Given the description of an element on the screen output the (x, y) to click on. 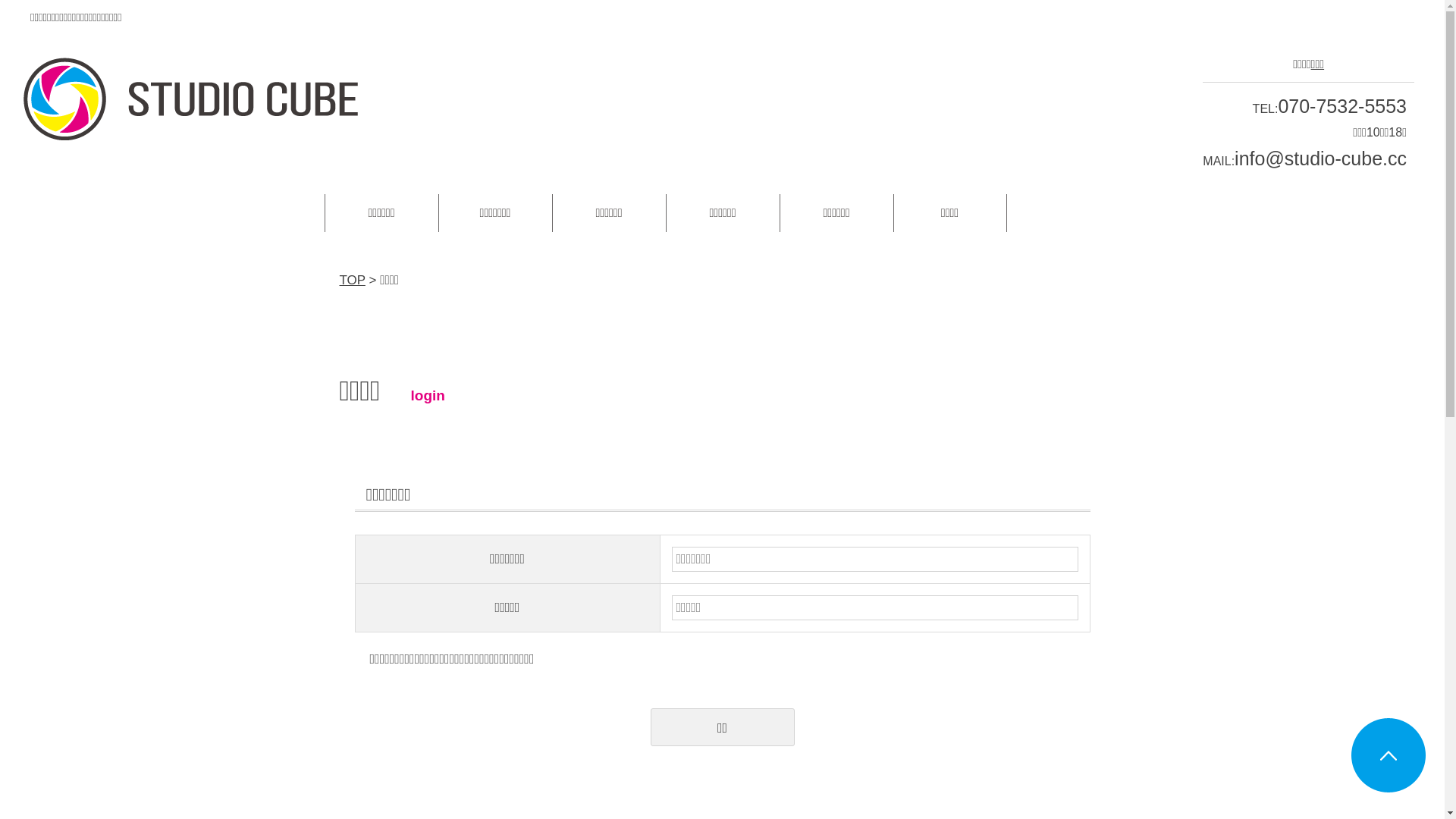
MAIL:info@studio-cube.cc Element type: text (1304, 160)
TOP Element type: text (352, 280)
